Given the description of an element on the screen output the (x, y) to click on. 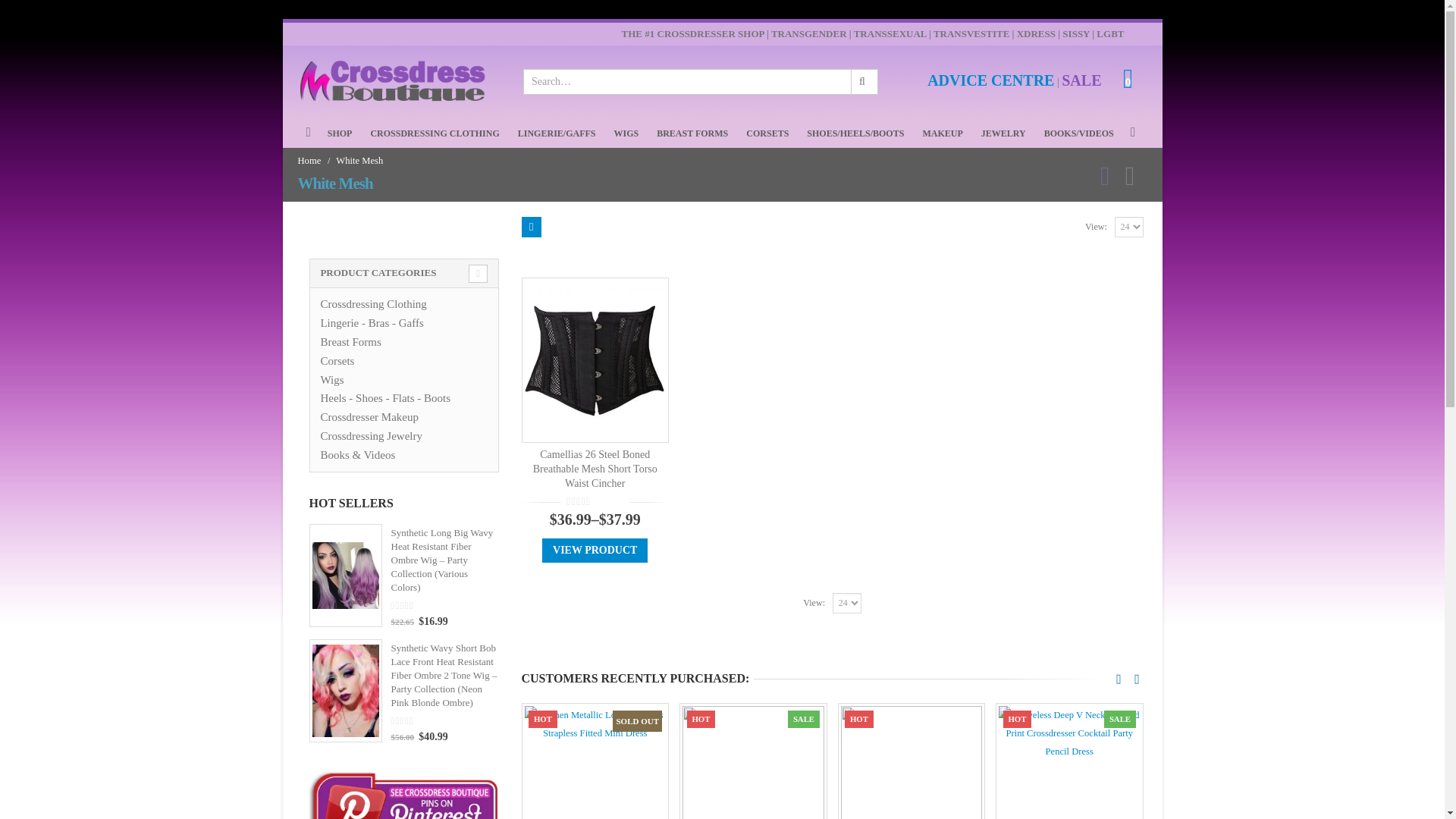
WIGS (625, 132)
CROSSDRESSING CLOTHING (433, 132)
SALE (1080, 81)
Grid View (531, 227)
Search (862, 81)
SHOP (339, 132)
ADVICE CENTRE (990, 81)
